Given the description of an element on the screen output the (x, y) to click on. 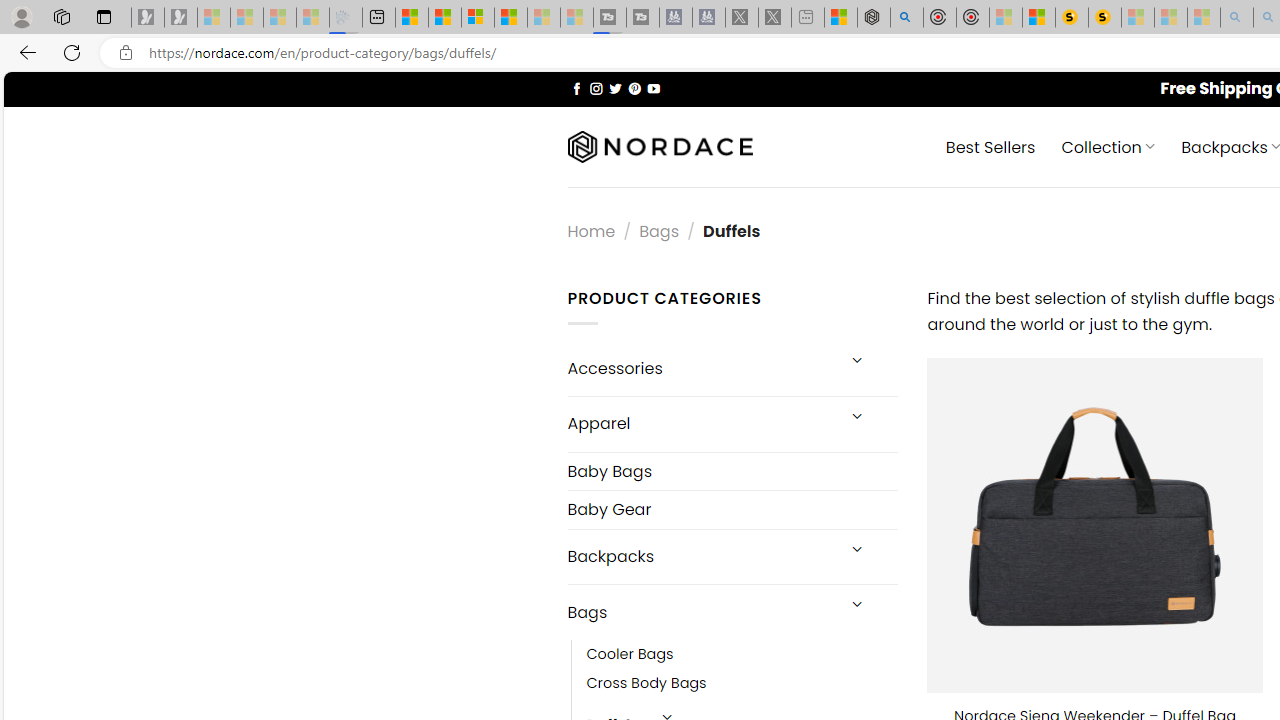
Backpacks (700, 556)
Follow on Twitter (615, 88)
amazon - Search - Sleeping (1237, 17)
Overview (478, 17)
Cooler Bags (630, 655)
Follow on Instagram (596, 88)
Baby Bags (732, 471)
Cooler Bags (742, 655)
